Given the description of an element on the screen output the (x, y) to click on. 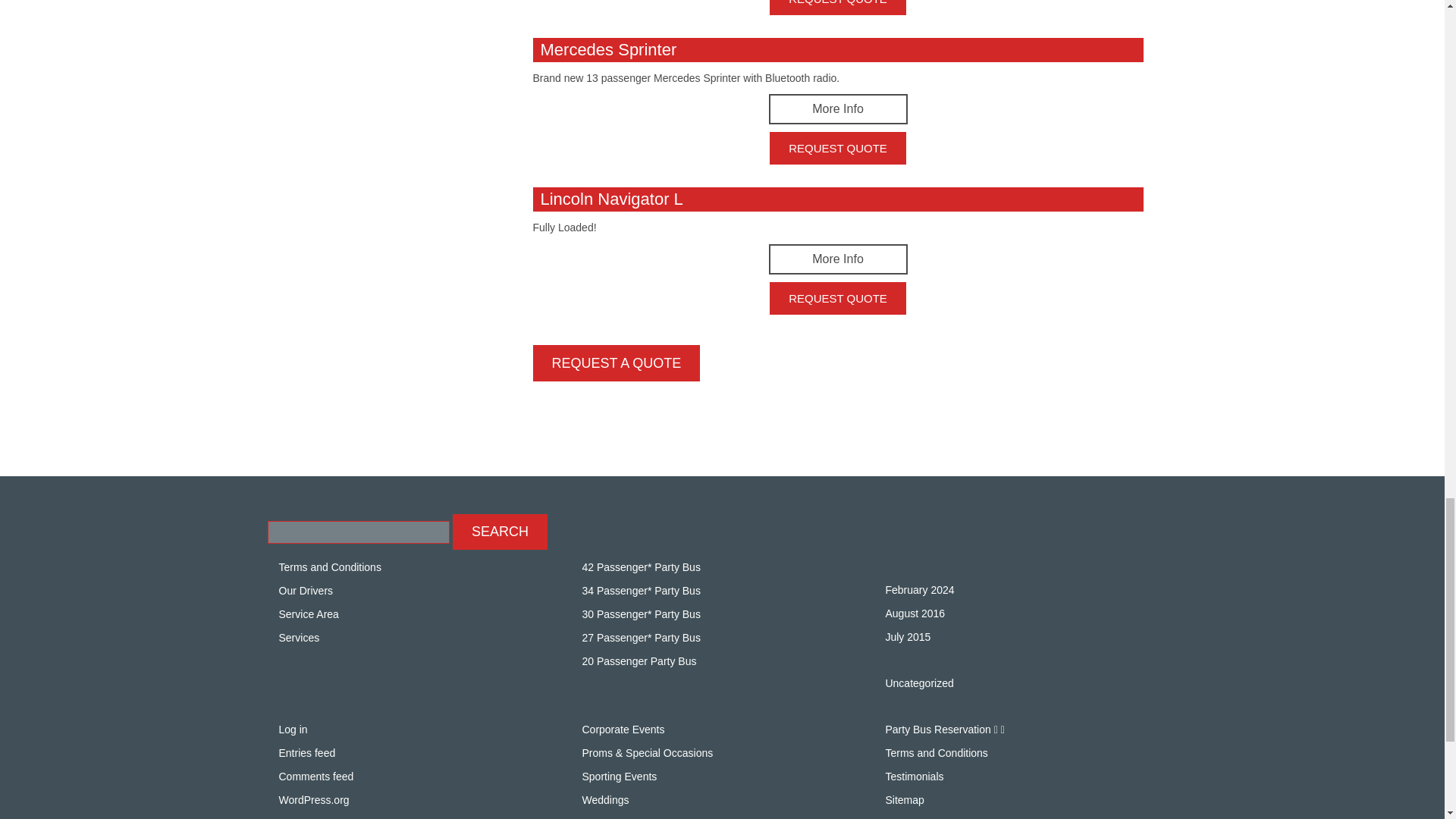
REQUEST QUOTE (837, 297)
More Info (837, 259)
Search (499, 531)
REQUEST QUOTE (837, 147)
REQUEST QUOTE (837, 7)
REQUEST A QUOTE (616, 362)
More Info (837, 109)
